Given the description of an element on the screen output the (x, y) to click on. 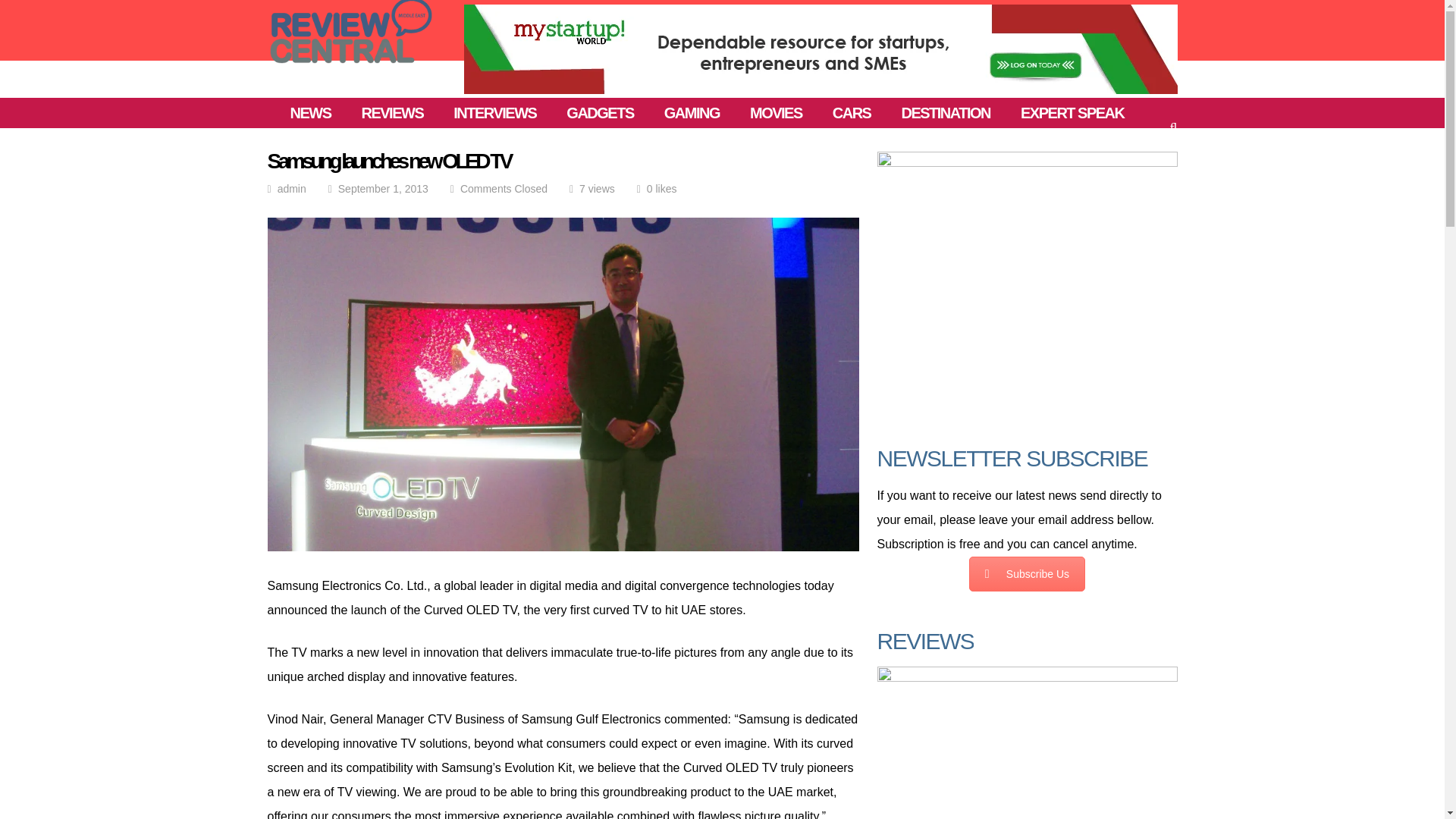
NEWS (309, 112)
GAMING (691, 112)
EXPERT SPEAK (1072, 112)
DESTINATION (945, 112)
Review Central Middle East (349, 68)
REVIEWS (392, 112)
INTERVIEWS (493, 112)
admin (291, 188)
CARS (851, 112)
MOVIES (775, 112)
